Given the description of an element on the screen output the (x, y) to click on. 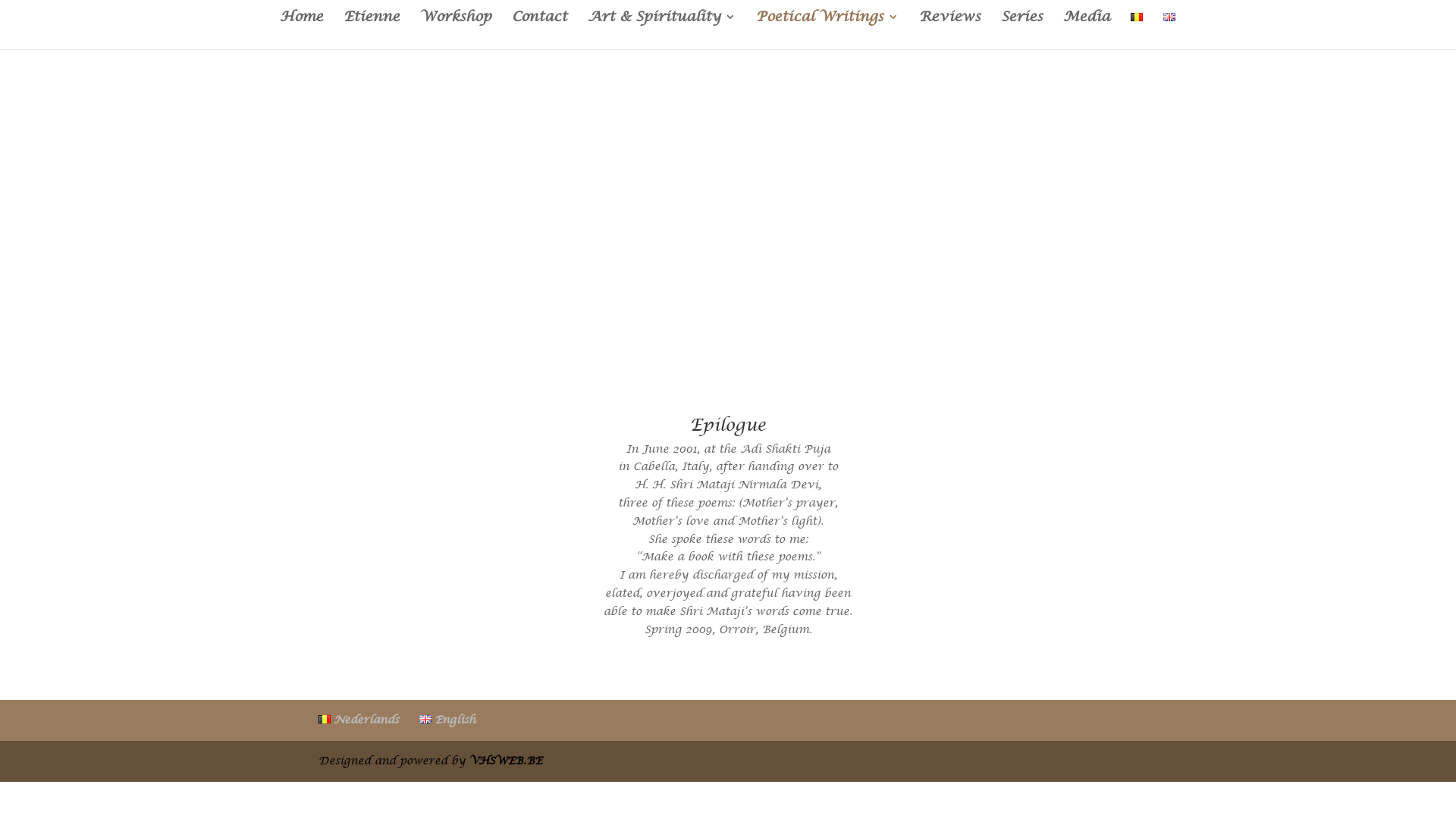
Series Element type: text (1021, 30)
Contact Element type: text (538, 30)
Art & Spirituality Element type: text (660, 30)
Nederlands Element type: text (358, 719)
Home Element type: text (300, 30)
Reviews Element type: text (949, 30)
Workshop Element type: text (455, 30)
VHSWEB.BE Element type: text (505, 760)
Media Element type: text (1086, 30)
Etienne Element type: text (370, 30)
Poetical Writings Element type: text (826, 30)
English Element type: text (447, 719)
